Given the description of an element on the screen output the (x, y) to click on. 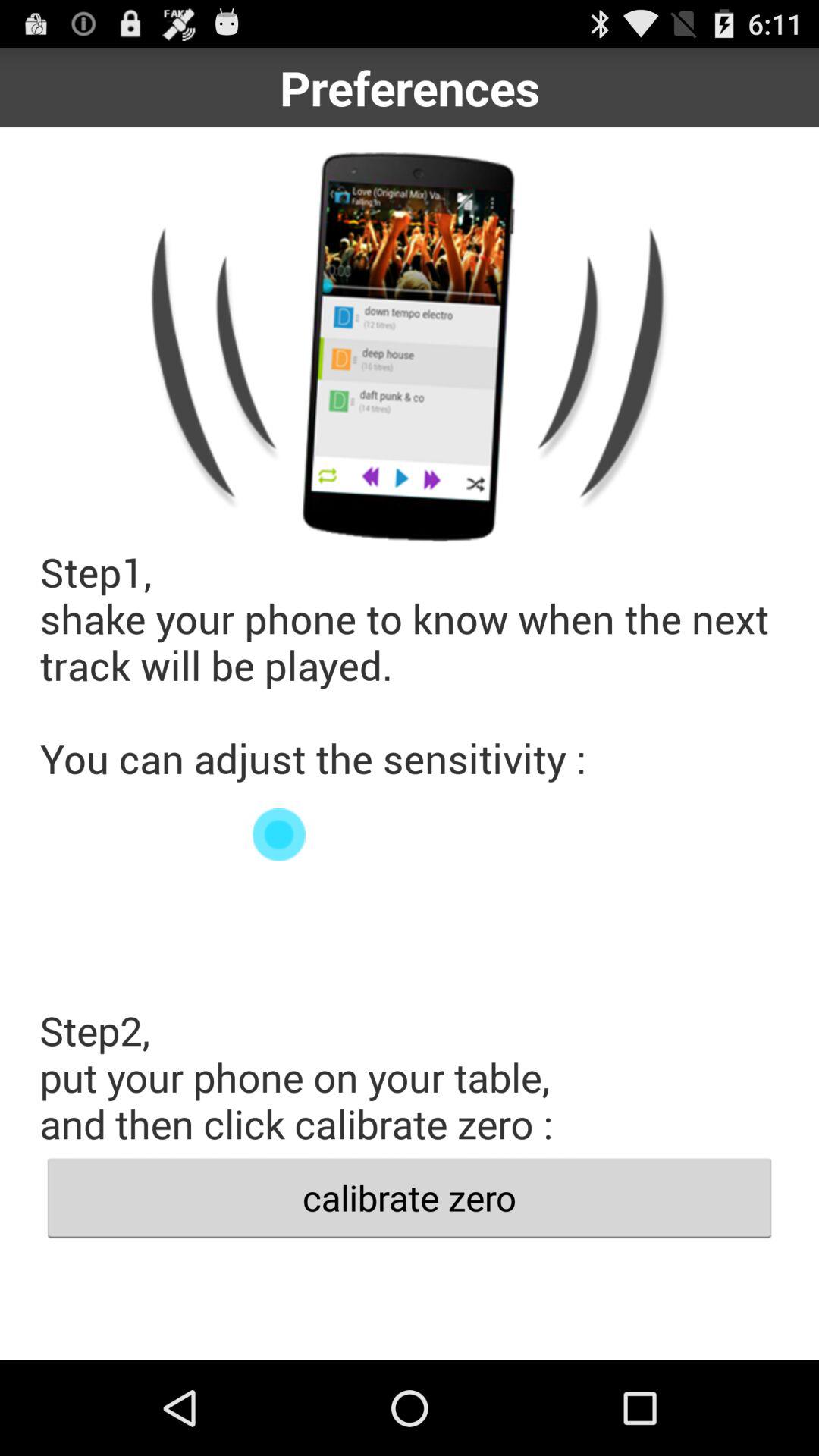
choose item above the step2 put your item (409, 834)
